Given the description of an element on the screen output the (x, y) to click on. 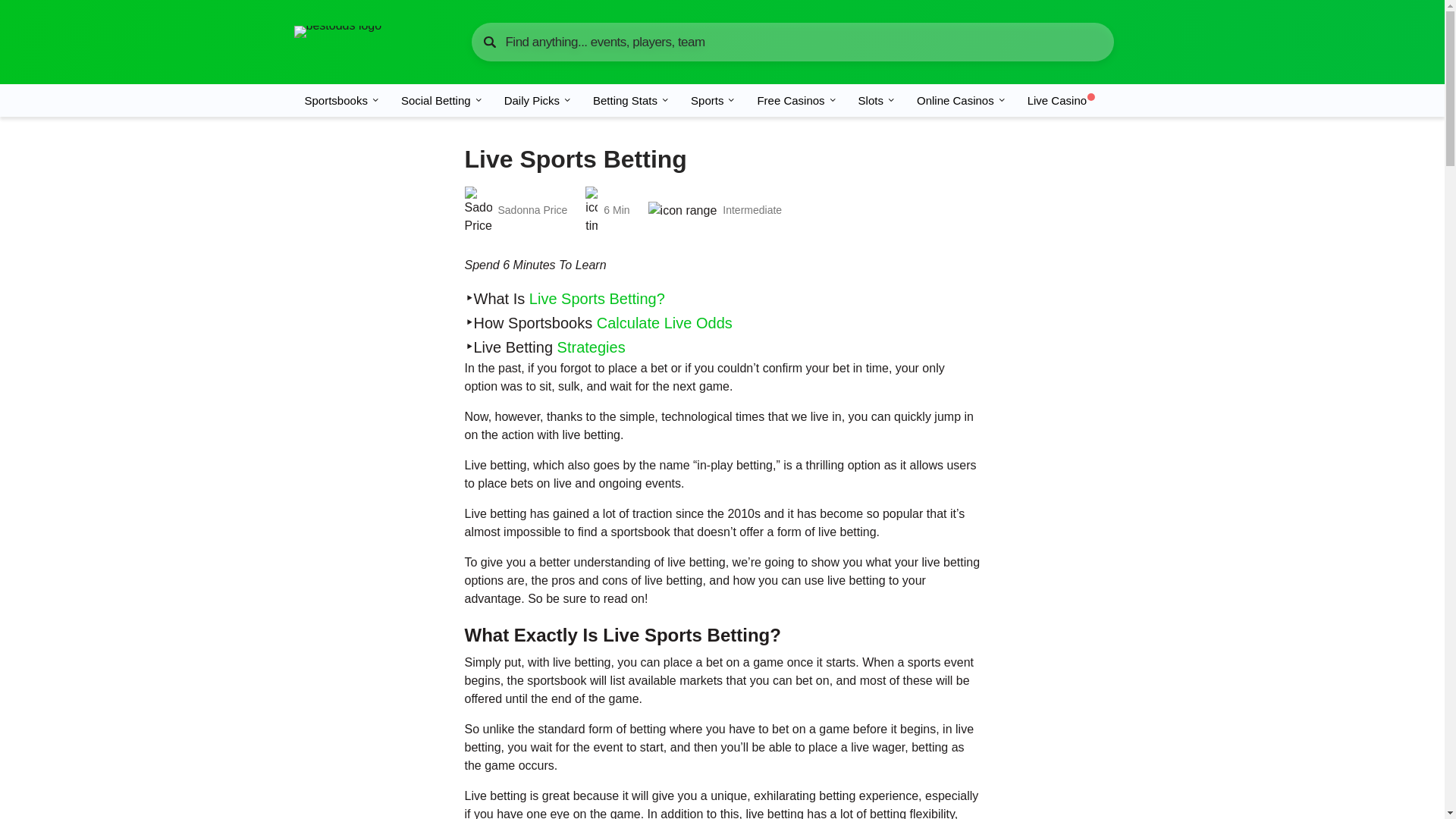
Sports (712, 99)
Free Casinos (796, 99)
Daily Picks (537, 99)
Sportsbooks (342, 99)
Social Betting (441, 99)
Betting Stats (630, 99)
Slots (876, 99)
